Given the description of an element on the screen output the (x, y) to click on. 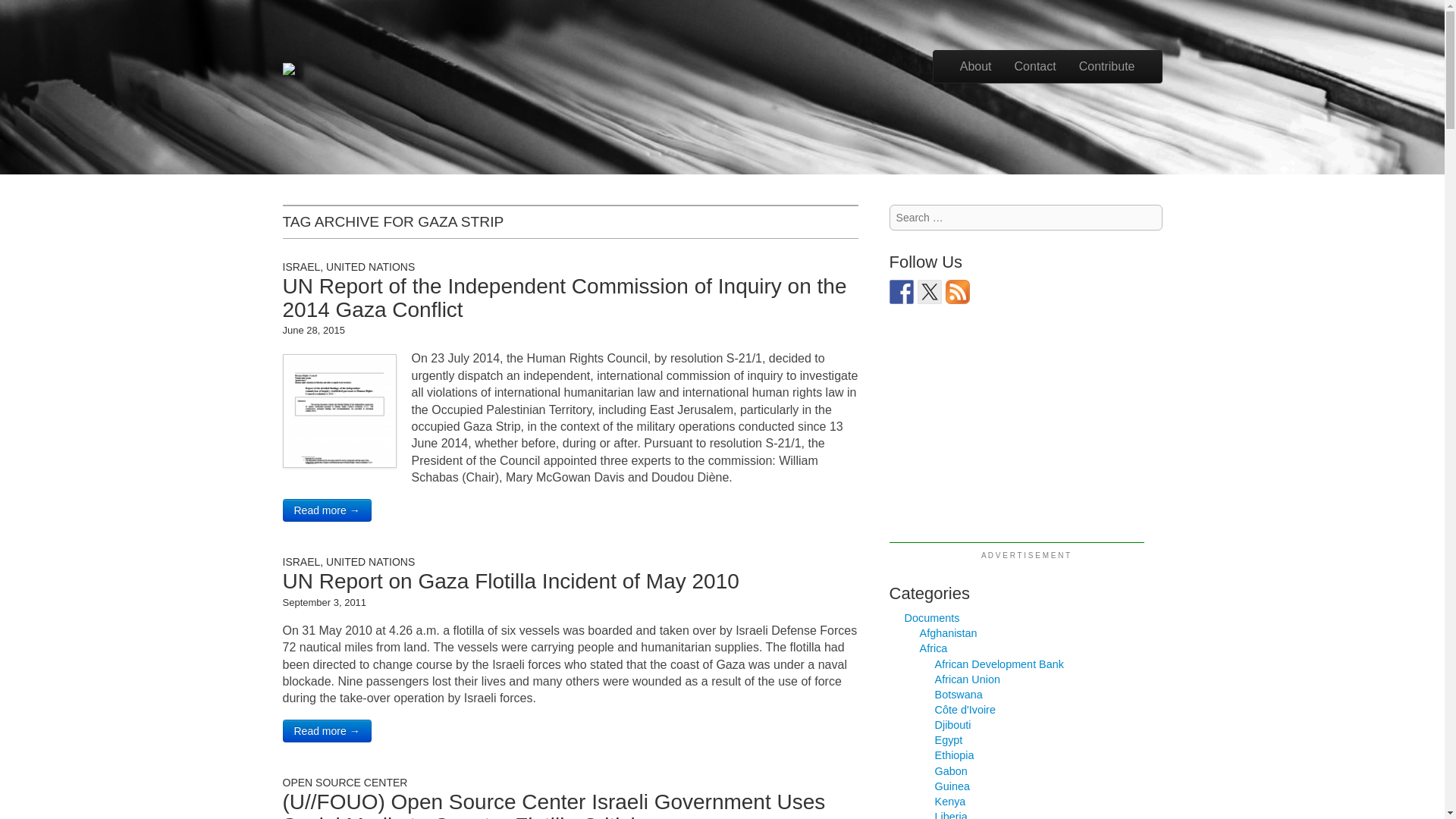
Contact (1035, 66)
Search (28, 11)
Advertisement (1016, 436)
ISRAEL (301, 562)
UN Report on Gaza Flotilla Incident of May 2010 (510, 580)
Contribute (1107, 66)
UNITED NATIONS (370, 266)
UNITED NATIONS (370, 562)
Follow us on Facebook (901, 291)
June 28, 2015 (312, 329)
ISRAEL (301, 266)
OPEN SOURCE CENTER (344, 782)
Subscribe to our RSS Feed (956, 291)
